Given the description of an element on the screen output the (x, y) to click on. 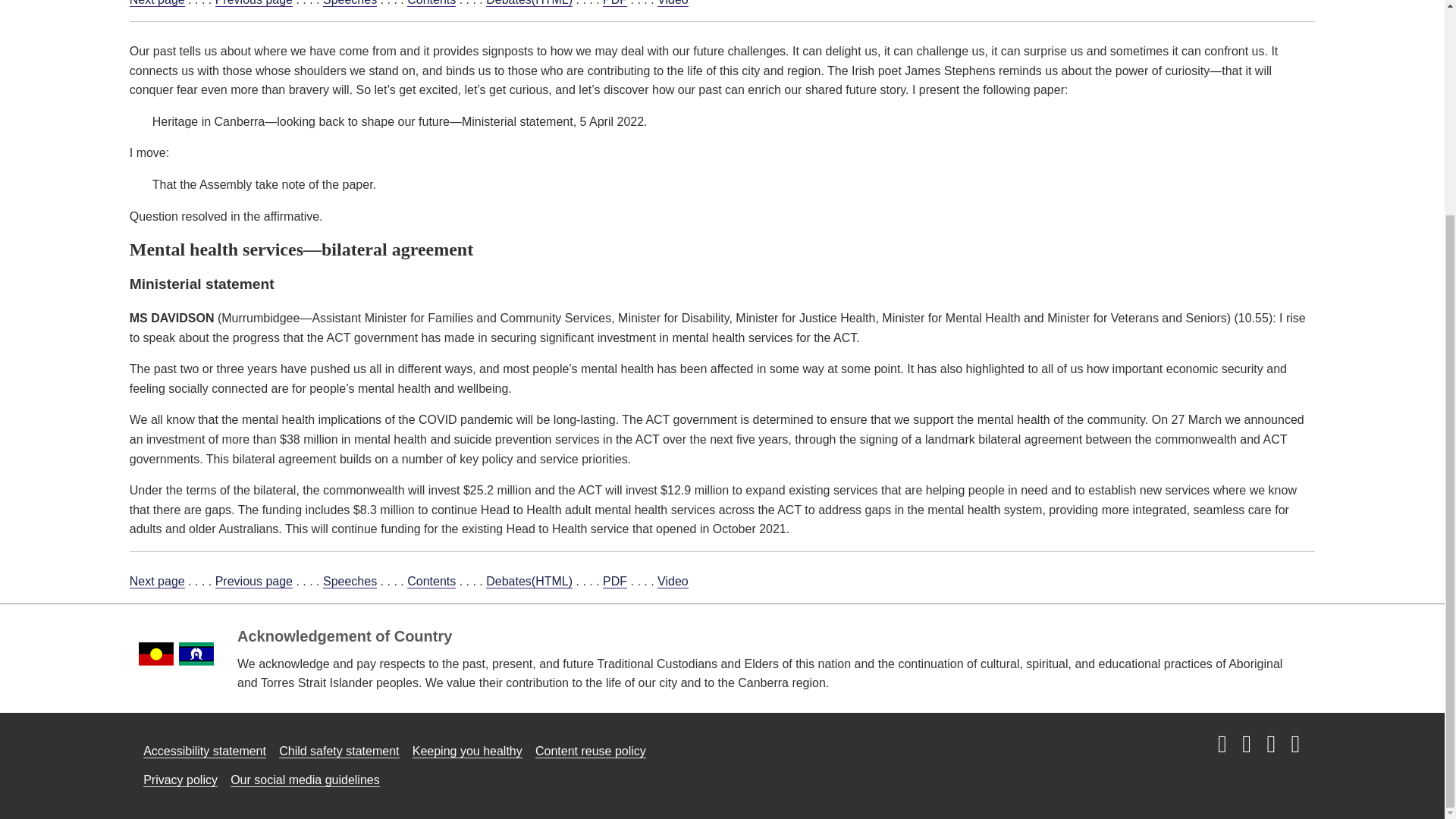
Contents (431, 3)
Contents (431, 581)
Privacy policy (179, 780)
Content reuse policy (590, 751)
Speeches (350, 3)
PDF (614, 581)
Keeping you healthy (467, 751)
Read our content sharing and re-use policy (590, 751)
Next page (156, 581)
Our social media guidelines (305, 780)
Accessibility statement (204, 751)
Read our access and inclusion statement (204, 751)
Speeches (350, 581)
Video (673, 3)
Previous page (253, 3)
